Given the description of an element on the screen output the (x, y) to click on. 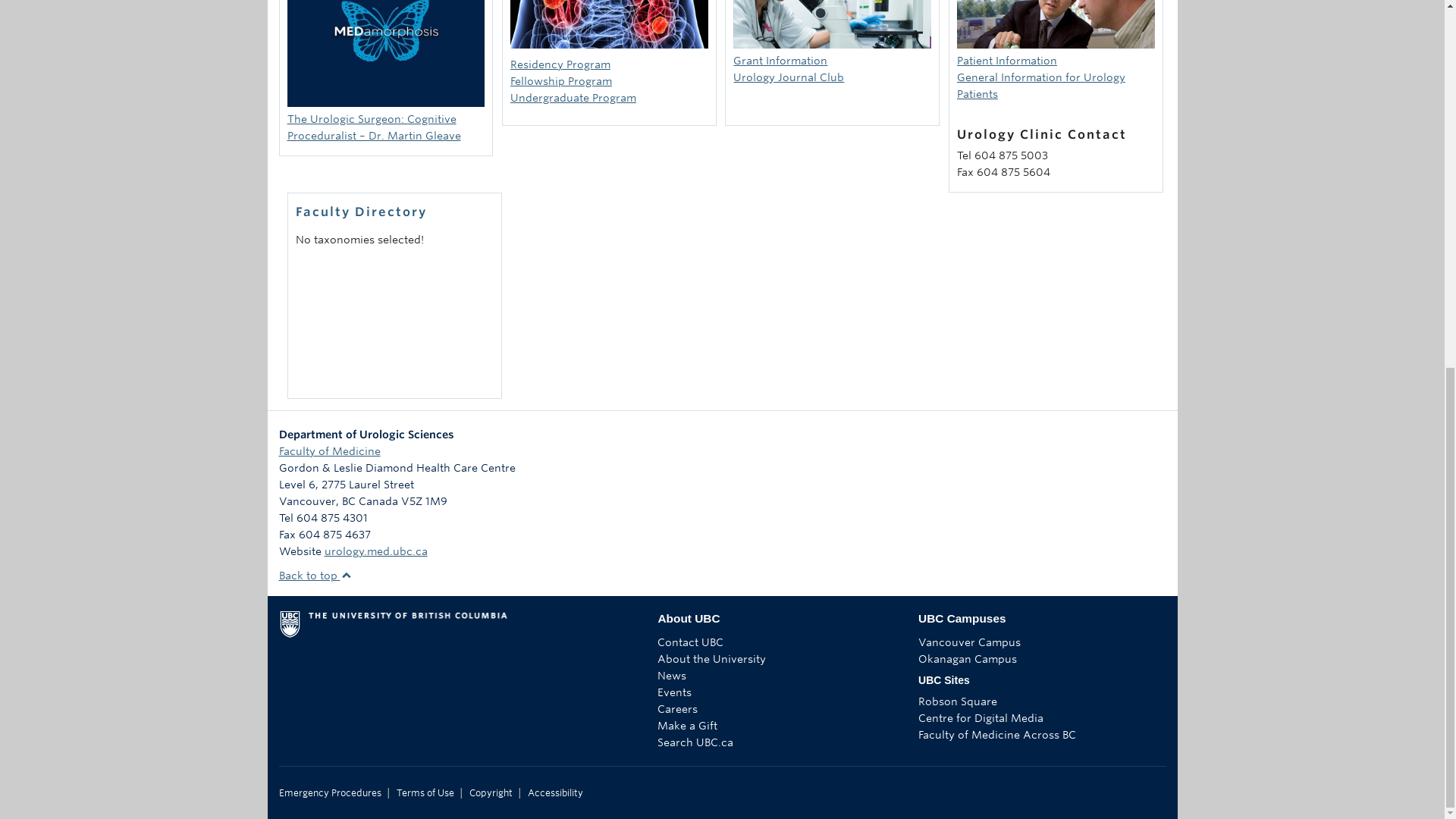
Terms of Use (424, 792)
UBC Copyright (490, 792)
Back to top (315, 575)
Accessibility (555, 792)
Emergency Procedures (330, 792)
